Given the description of an element on the screen output the (x, y) to click on. 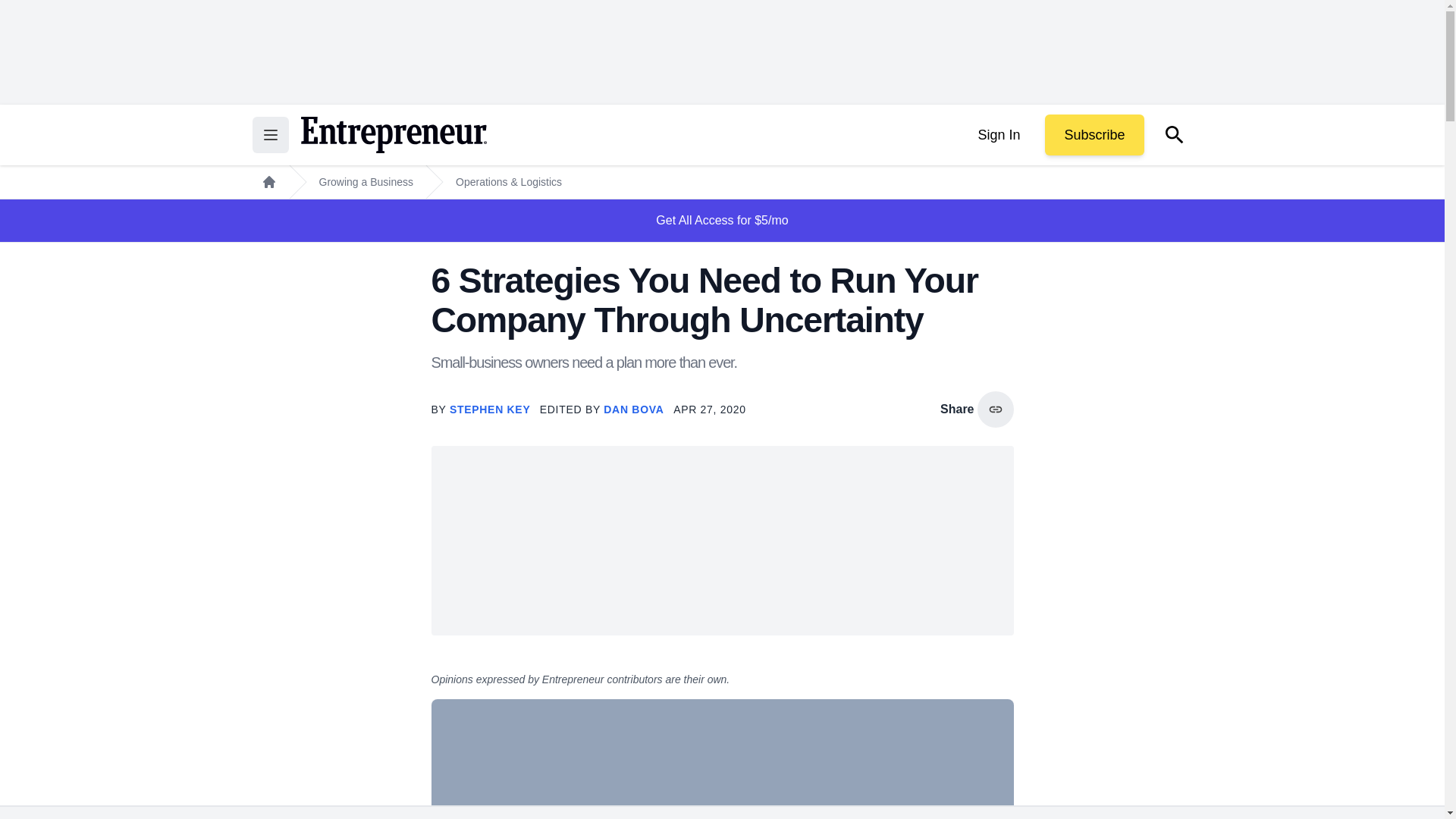
copy (994, 409)
Sign In (998, 134)
Return to the home page (392, 135)
Subscribe (1093, 134)
